Given the description of an element on the screen output the (x, y) to click on. 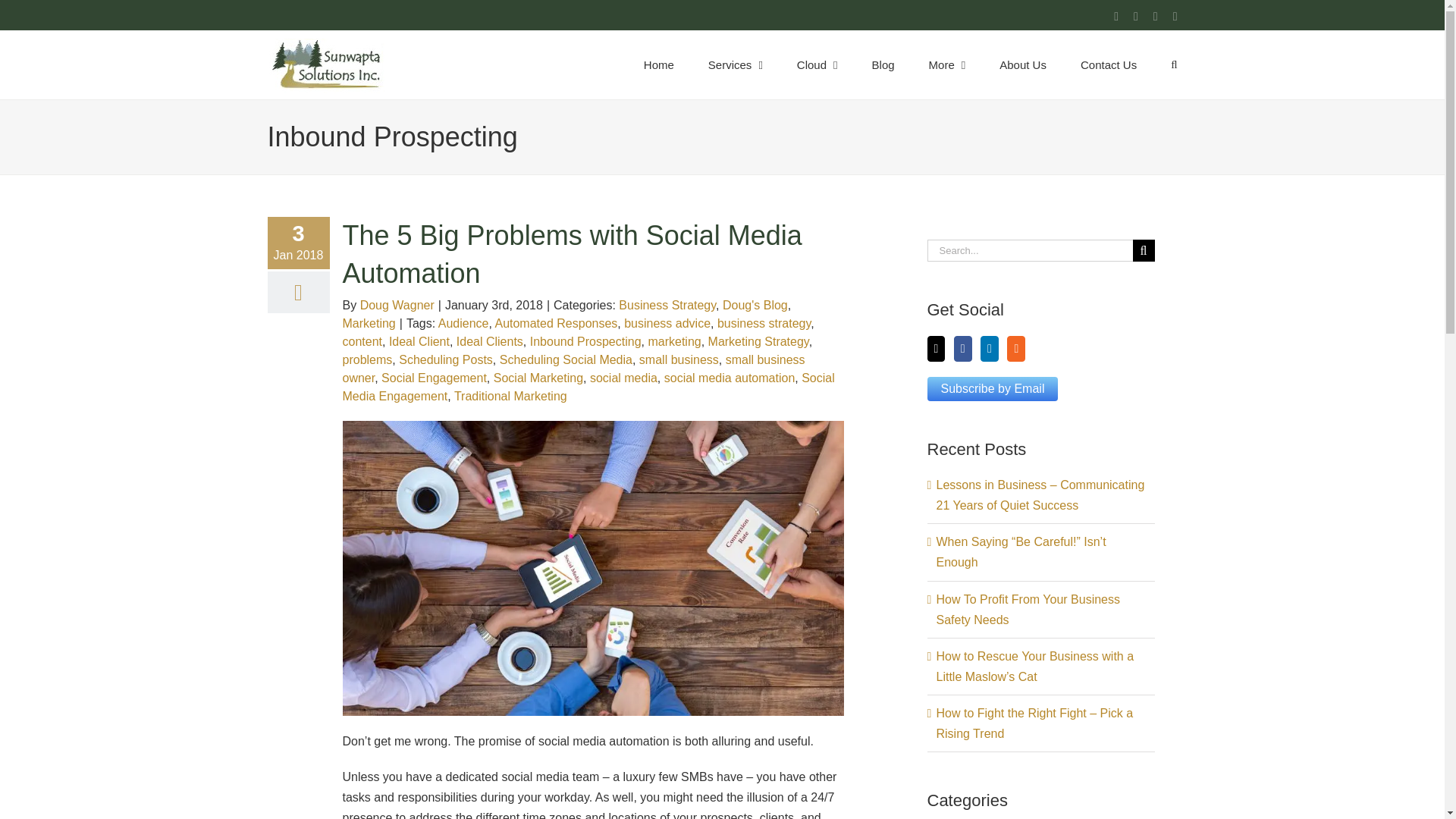
The 5 Big Problems with Social Media Automation (572, 254)
Posts by Doug Wagner (396, 305)
Business Strategy (667, 305)
Doug Wagner (396, 305)
Subscribe by Email (992, 388)
